Given the description of an element on the screen output the (x, y) to click on. 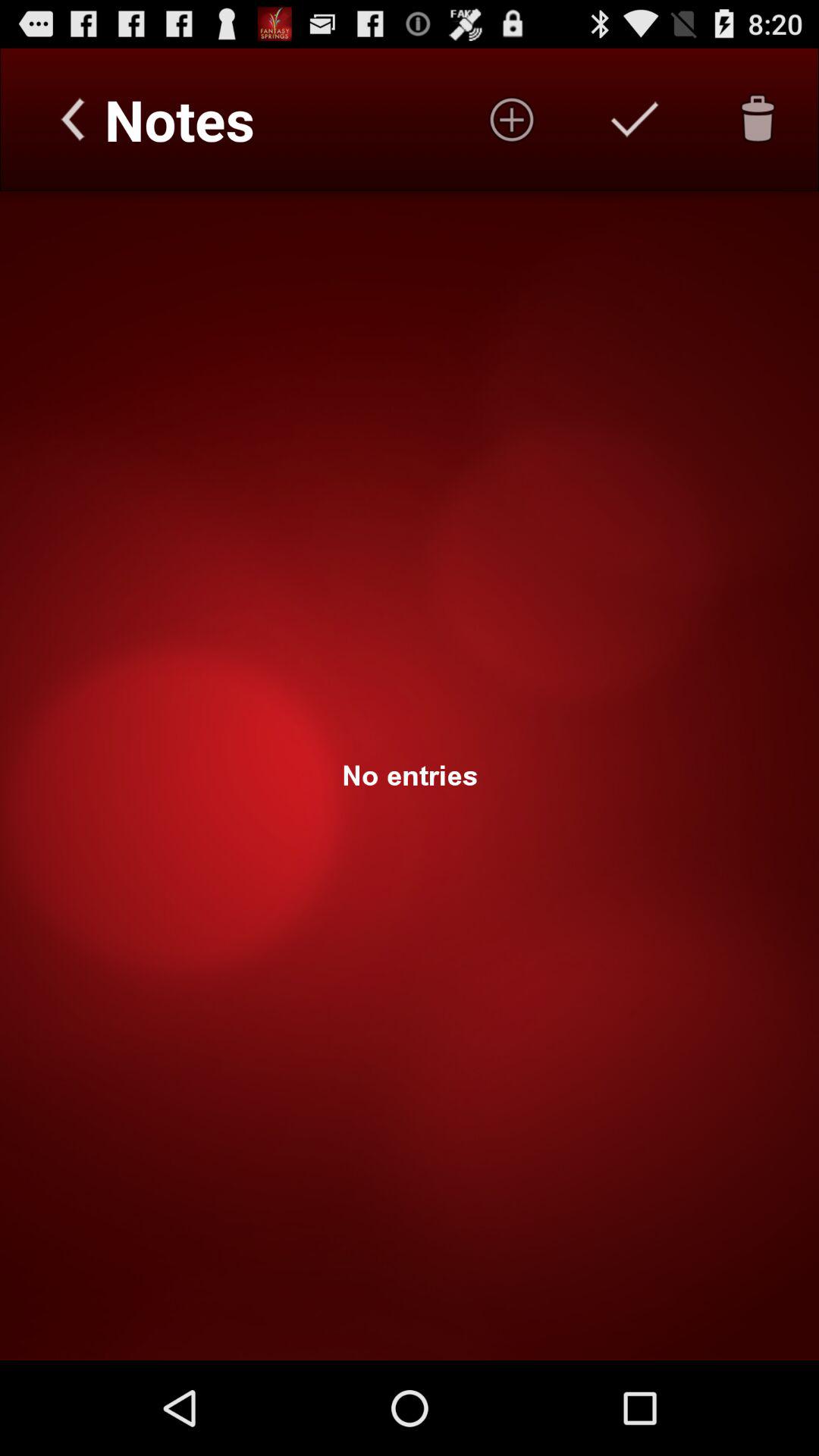
add entries (511, 119)
